Given the description of an element on the screen output the (x, y) to click on. 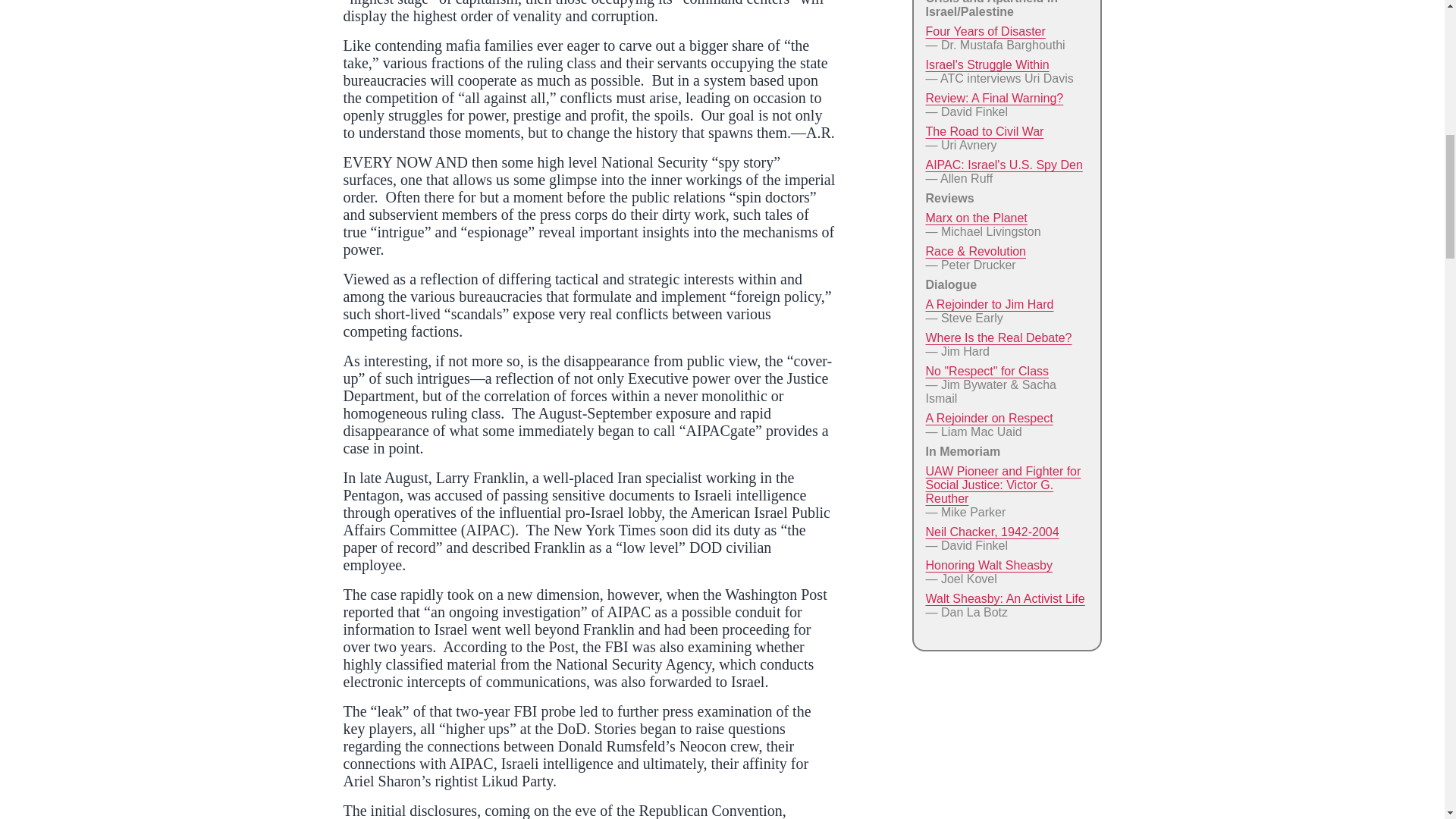
Where Is the Real Debate? (997, 337)
A Rejoinder to Jim Hard (988, 304)
A Rejoinder on Respect (988, 418)
Israel's Struggle Within (986, 64)
No "Respect" for Class (986, 370)
Four Years of Disaster (984, 31)
Review: A Final Warning? (993, 97)
AIPAC: Israel's U.S. Spy Den (1002, 164)
Marx on the Planet (975, 217)
The Road to Civil War (983, 131)
